Given the description of an element on the screen output the (x, y) to click on. 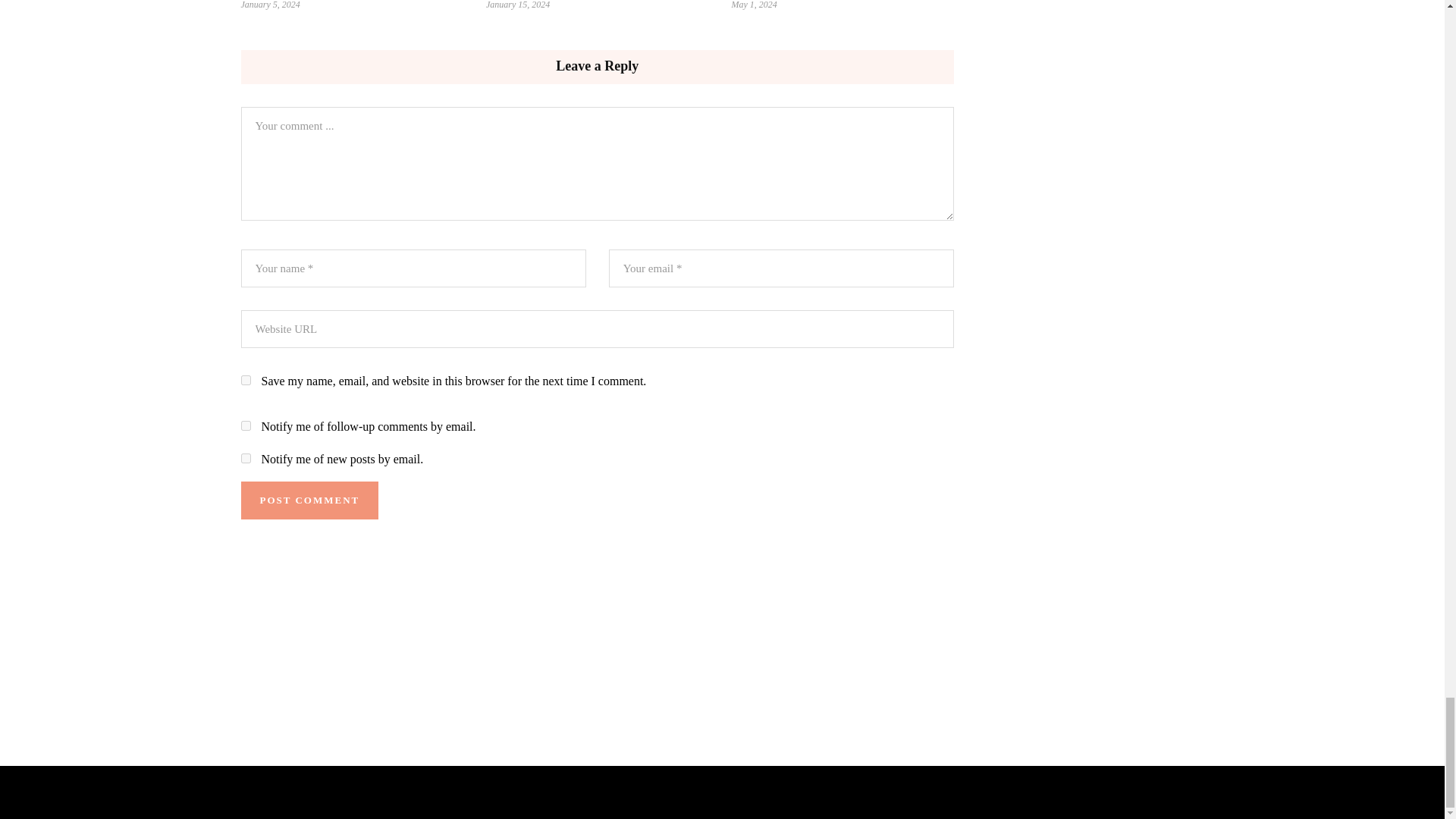
subscribe (245, 458)
subscribe (245, 425)
Post Comment (309, 500)
yes (245, 379)
